Given the description of an element on the screen output the (x, y) to click on. 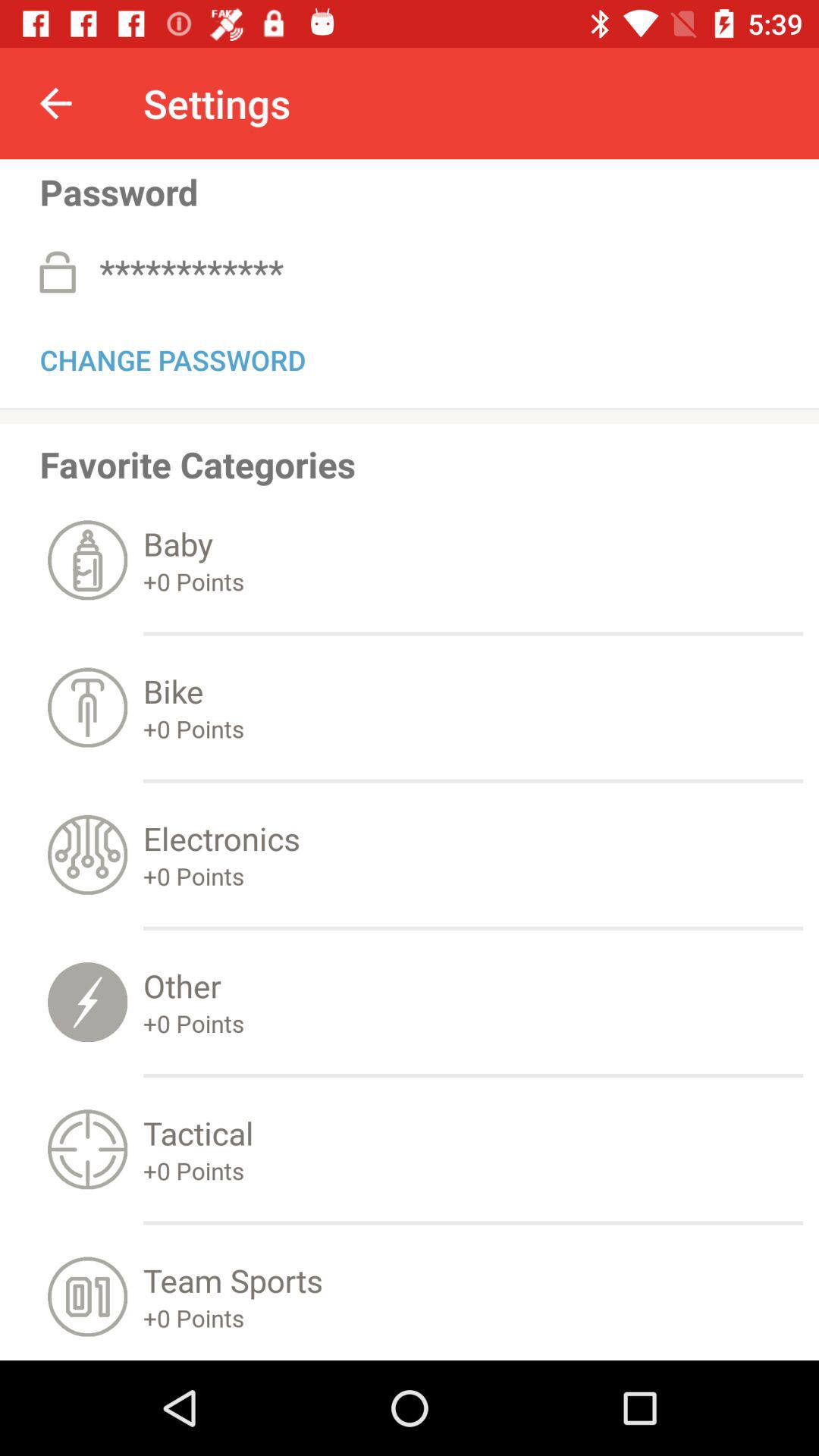
open the item above password item (55, 103)
